Given the description of an element on the screen output the (x, y) to click on. 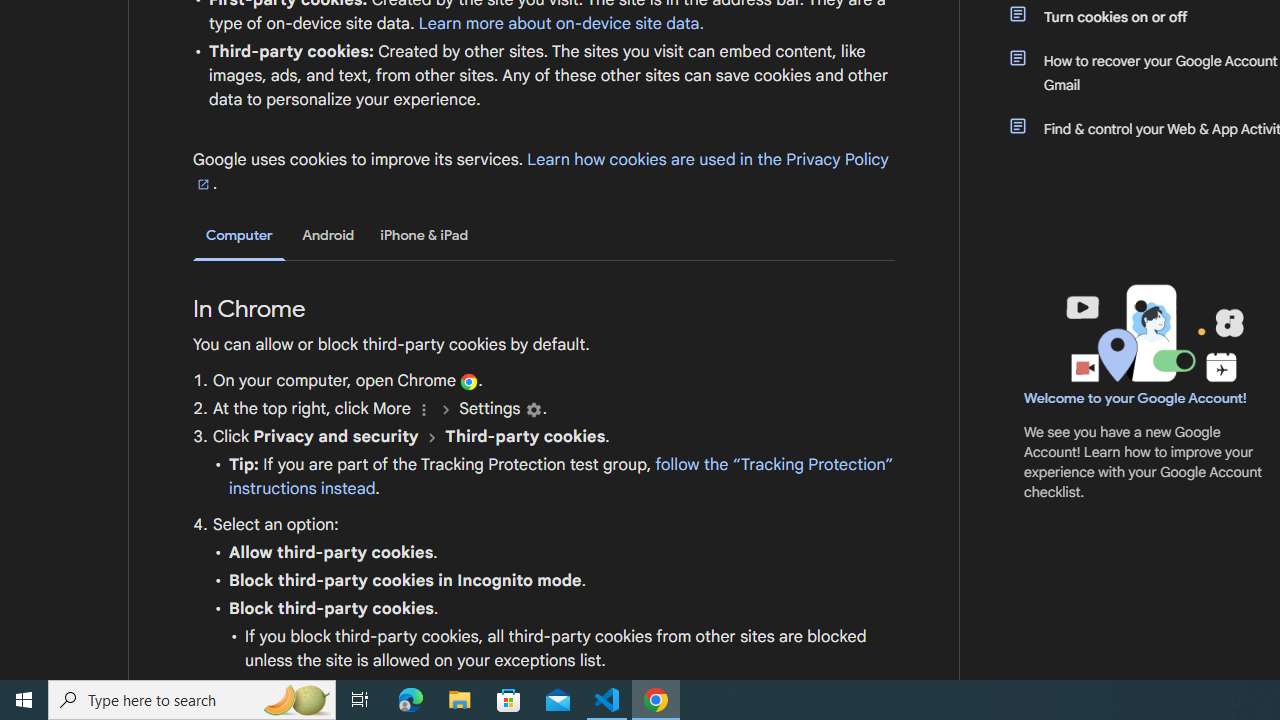
and then (431, 437)
Learn how cookies are used in the Privacy Policy (541, 171)
Android (328, 235)
More (423, 409)
Welcome to your Google Account! (1135, 397)
Learn more about on-device site data. (561, 23)
iPhone & iPad (424, 235)
Learning Center home page image (1152, 333)
Computer (239, 235)
Settings (532, 409)
